Given the description of an element on the screen output the (x, y) to click on. 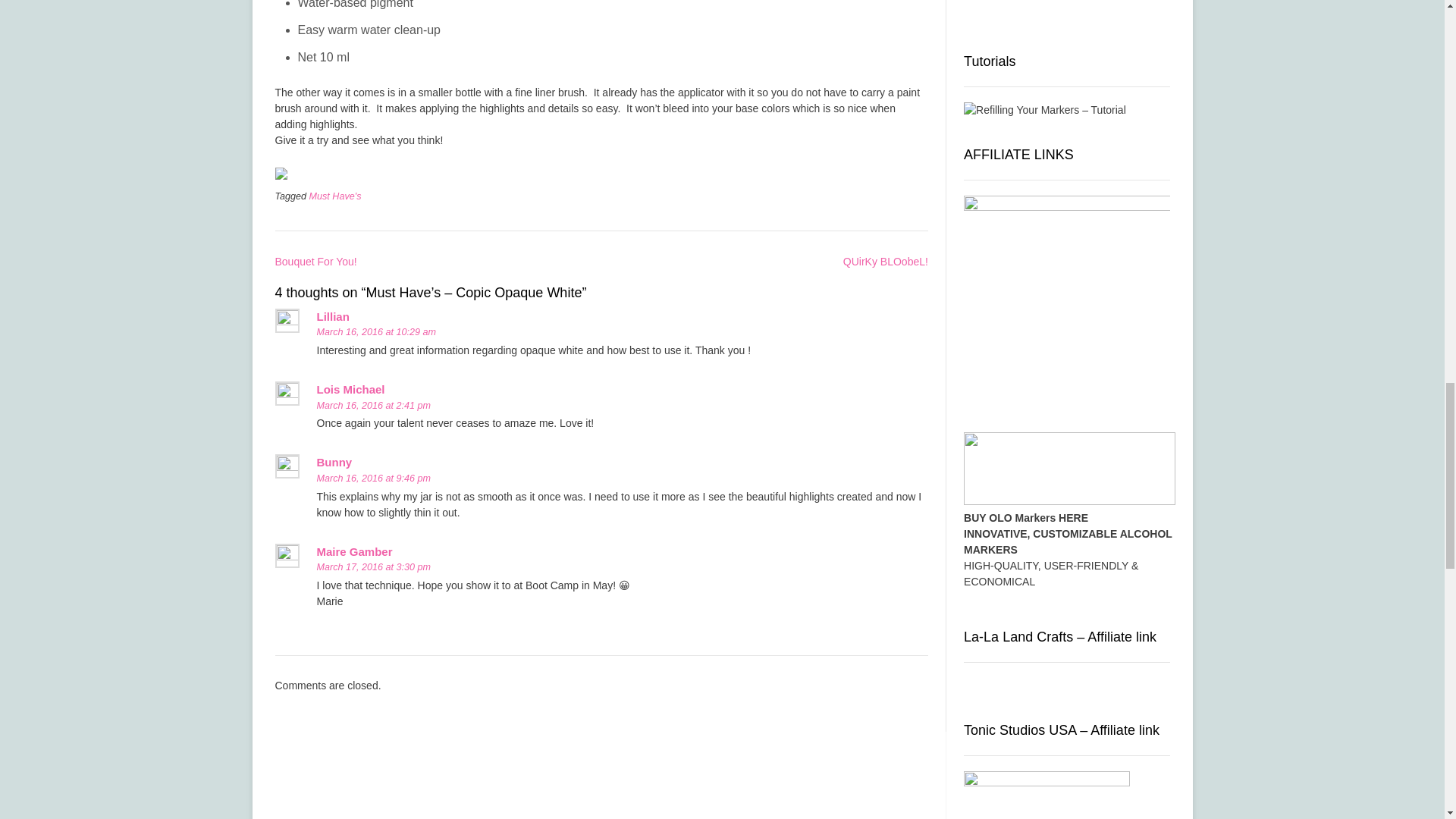
Lillian (333, 316)
Bunny (334, 461)
Lois Michael (351, 389)
Must Have's (334, 195)
QUirKy BLOobeL! (885, 261)
March 16, 2016 at 9:46 pm (373, 478)
Bouquet For You! (315, 261)
March 16, 2016 at 10:29 am (376, 331)
March 16, 2016 at 2:41 pm (373, 405)
March 17, 2016 at 3:30 pm (373, 566)
